Given the description of an element on the screen output the (x, y) to click on. 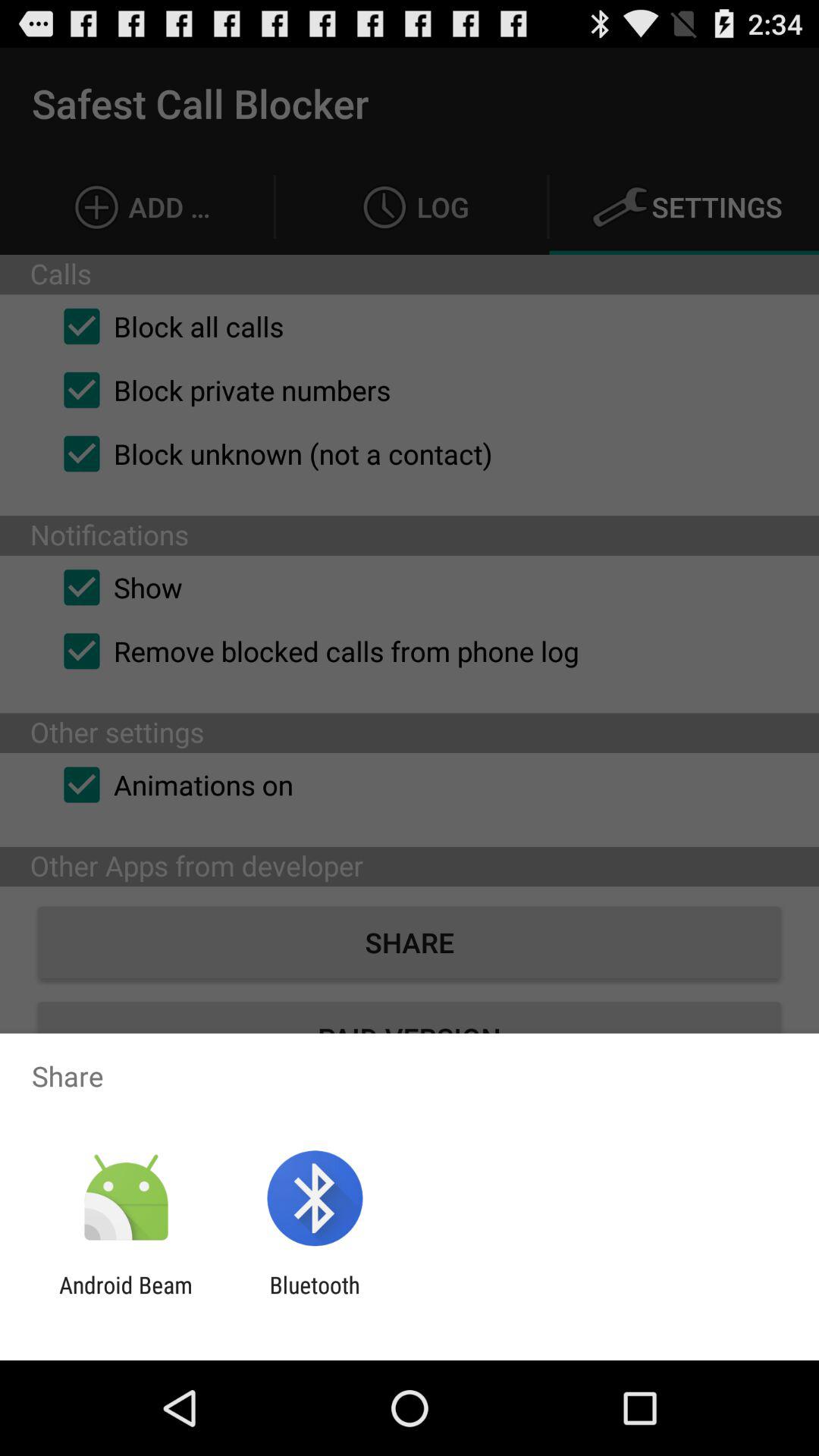
launch the app to the right of the android beam app (314, 1298)
